Given the description of an element on the screen output the (x, y) to click on. 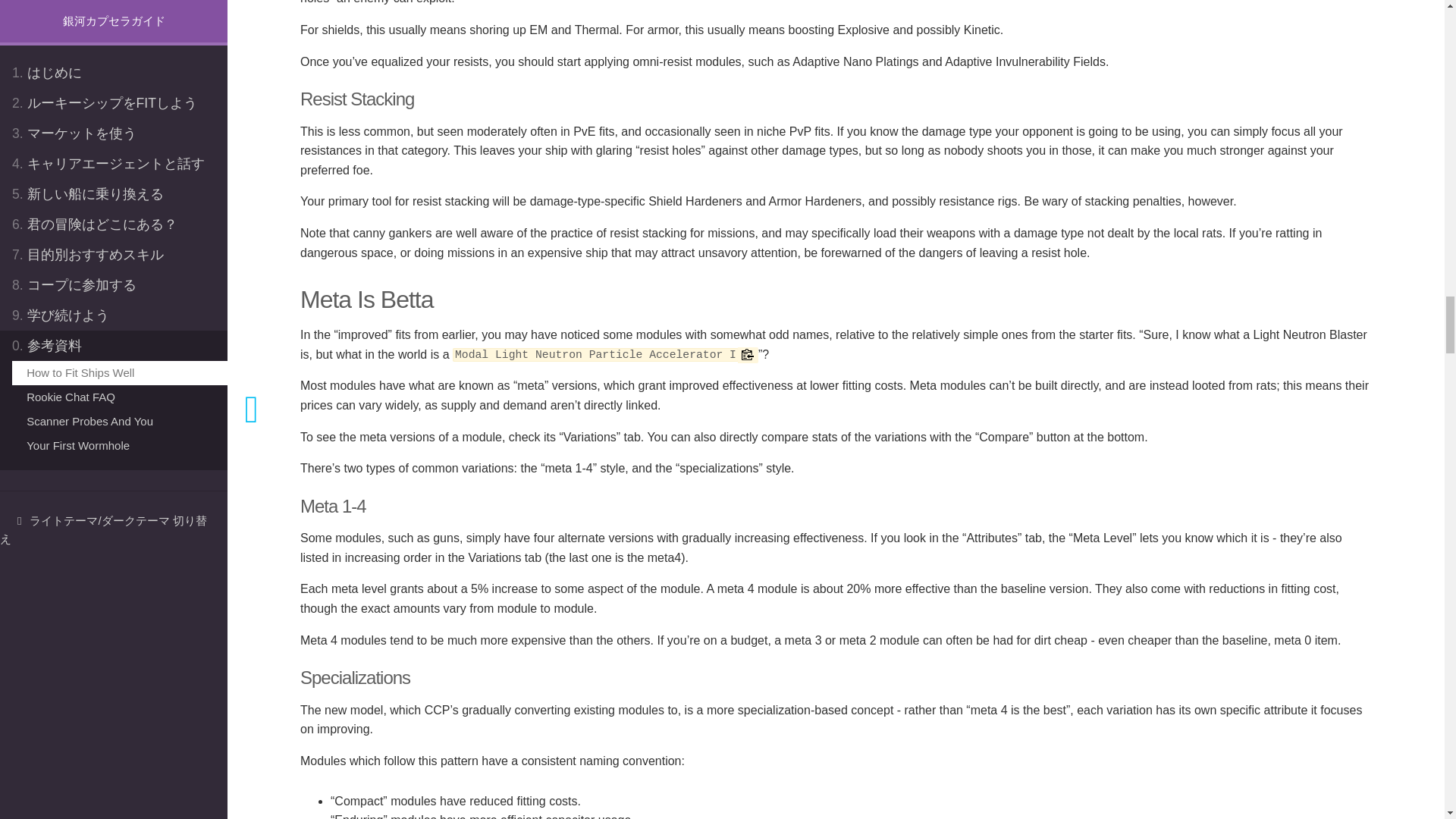
Copy to clipboard (748, 355)
